Given the description of an element on the screen output the (x, y) to click on. 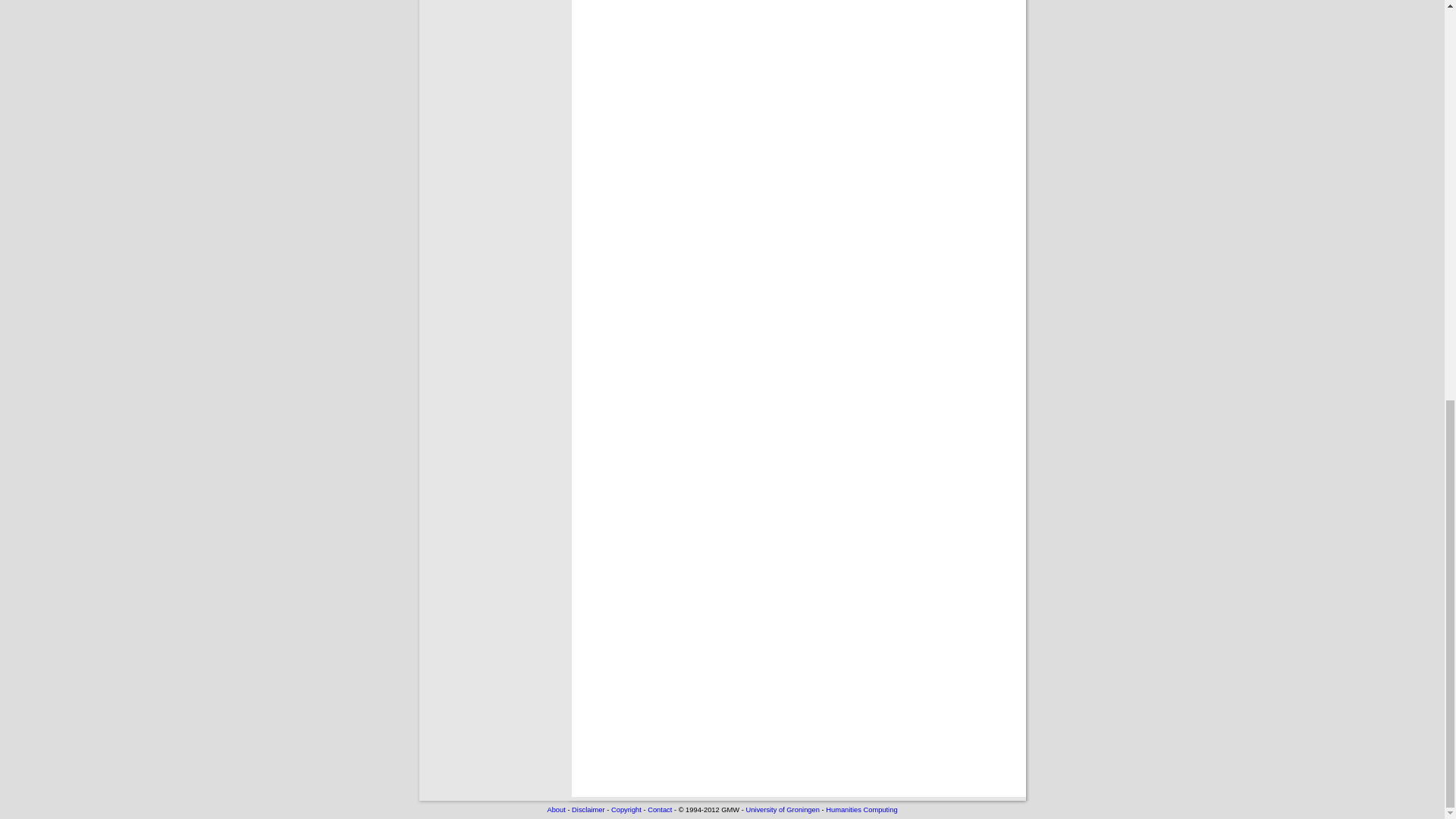
Contact (659, 809)
University of Groningen (781, 809)
Copyright (626, 809)
Humanities Computing (860, 809)
Disclaimer (588, 809)
About (555, 809)
